Given the description of an element on the screen output the (x, y) to click on. 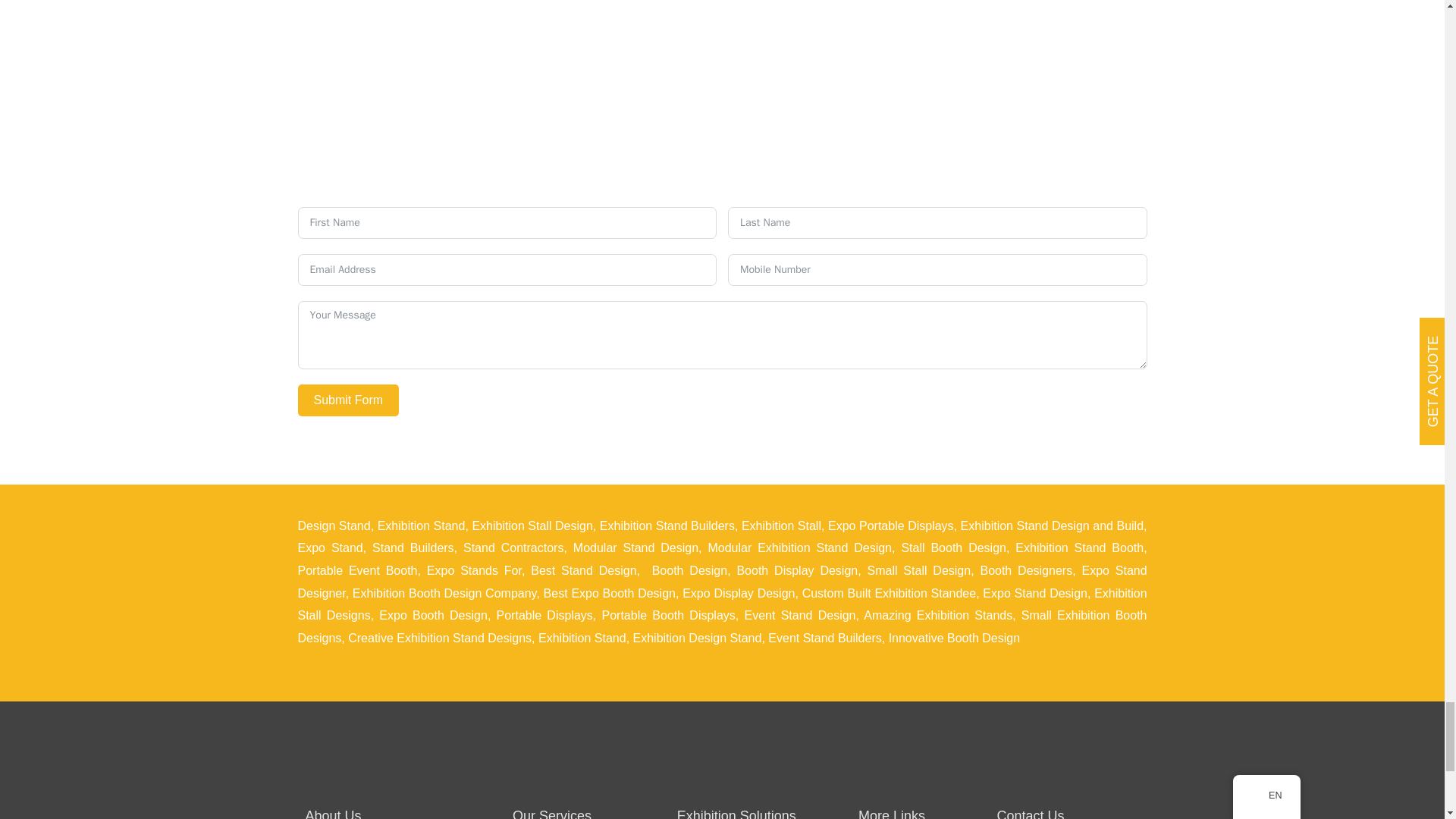
Exhibition Stand (421, 525)
Exhibition Stall Design (531, 525)
Design Stand (333, 525)
Exhibition Stand Builders (667, 525)
Submit Form (347, 400)
